Given the description of an element on the screen output the (x, y) to click on. 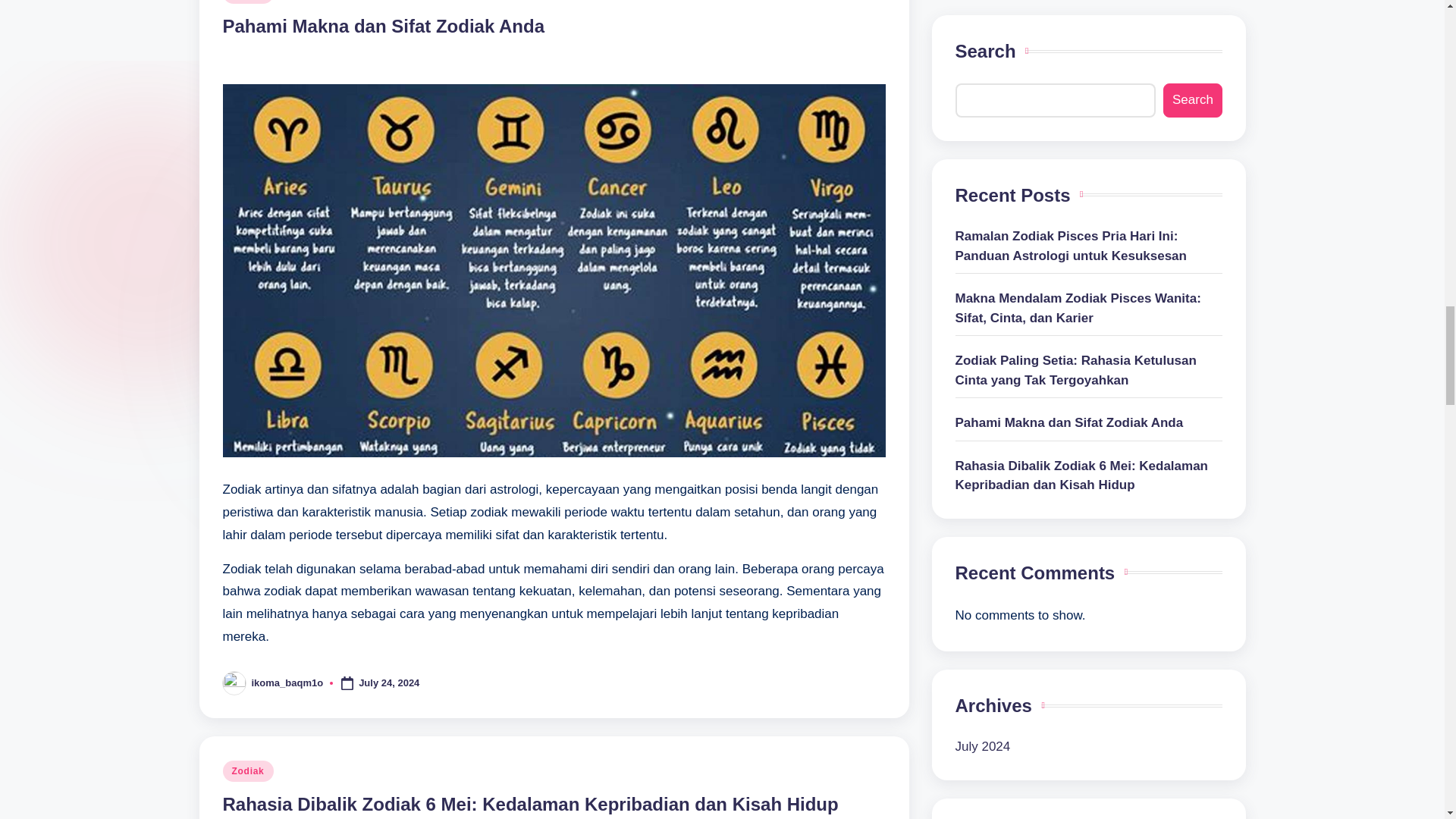
Pahami Makna dan Sifat Zodiak Anda (383, 25)
